Given the description of an element on the screen output the (x, y) to click on. 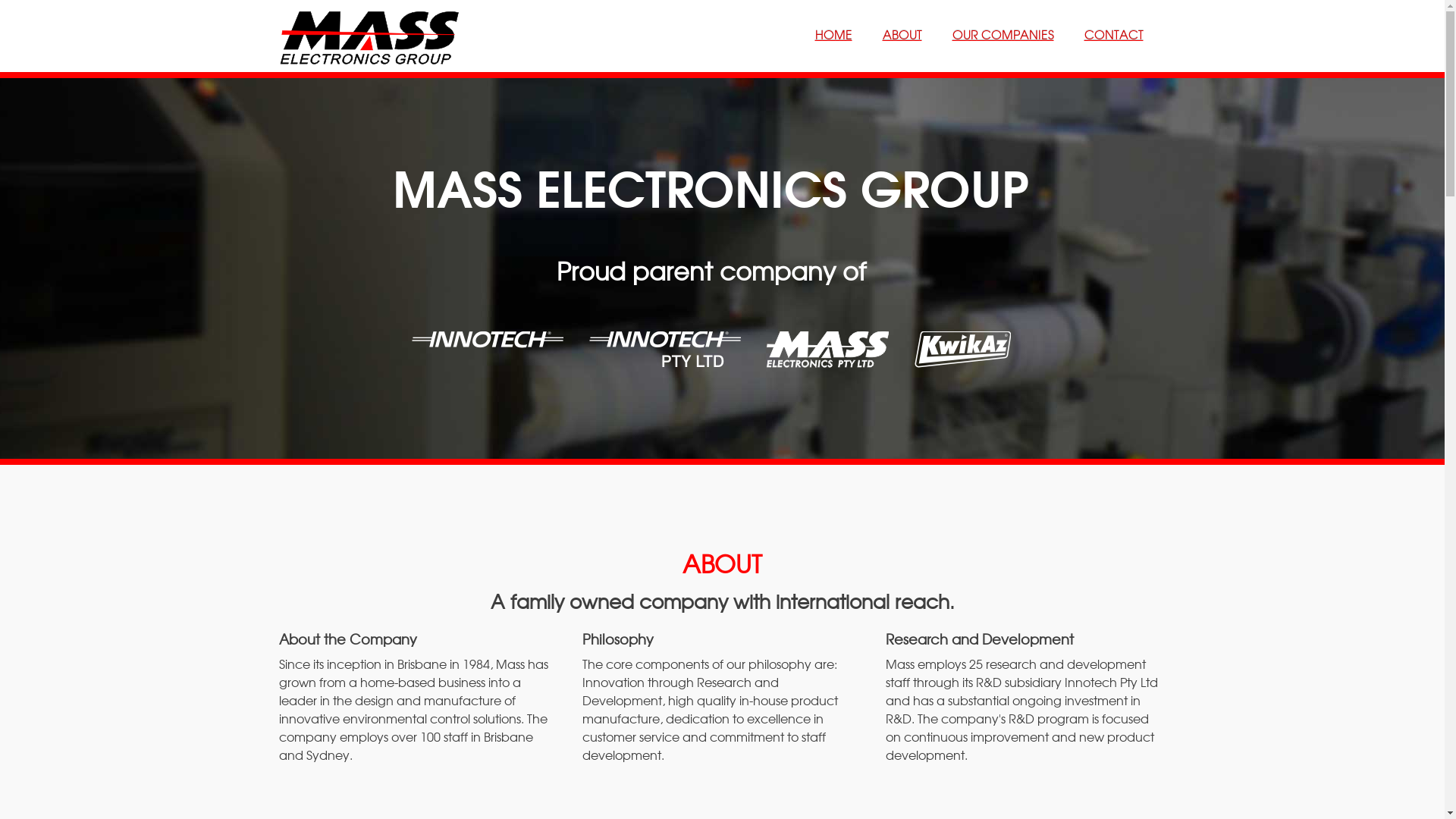
R&D division of the Mass Electronics Group Element type: hover (666, 325)
ABOUT Element type: text (902, 33)
CONTACT Element type: text (1113, 33)
Home Page - Mass Electronics Element type: hover (379, 36)
OUR COMPANIES Element type: text (1003, 33)
HOME Element type: text (832, 33)
